Given the description of an element on the screen output the (x, y) to click on. 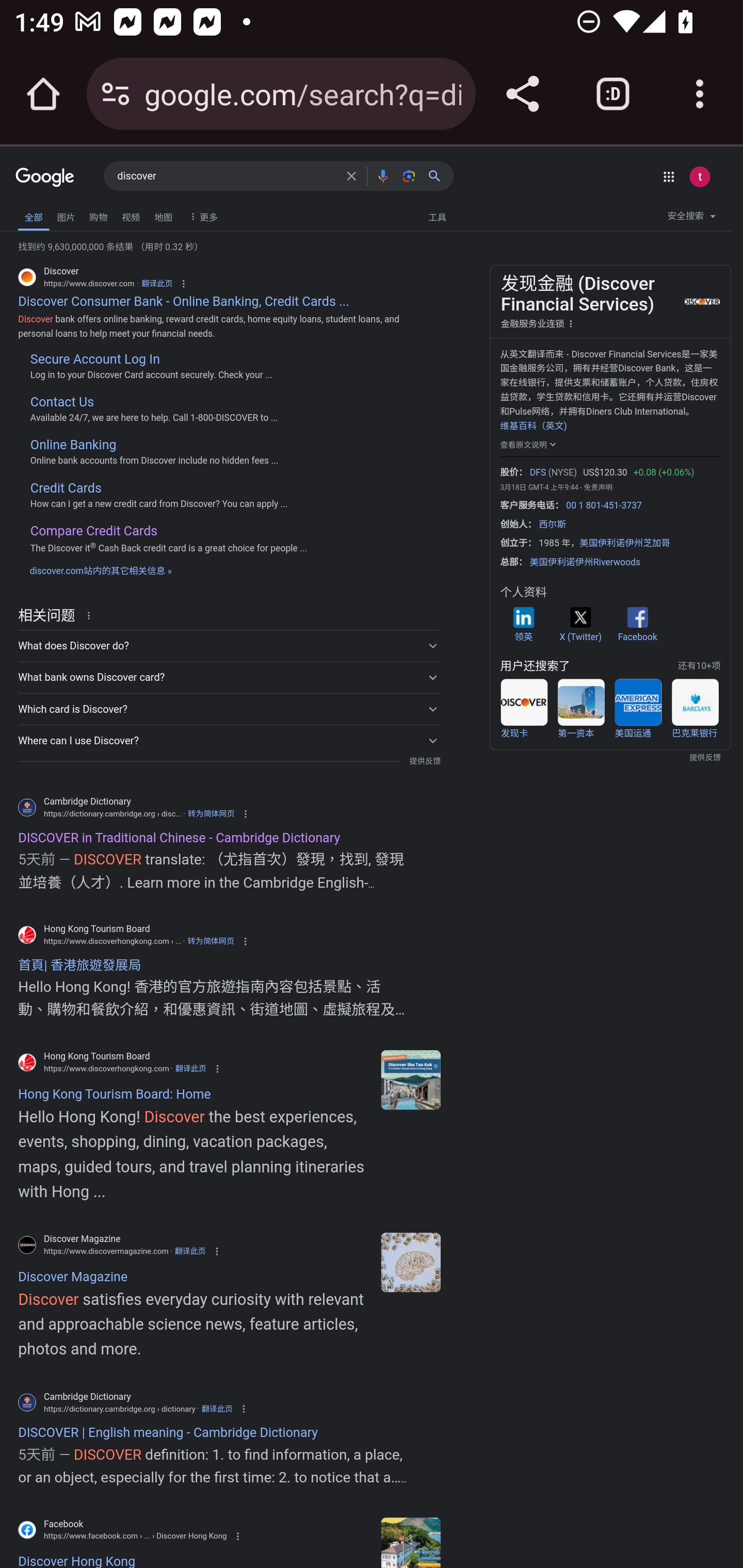
Open the home page (43, 93)
Connection is secure (115, 93)
Share (522, 93)
Switch or close tabs (612, 93)
Customize and control Google Chrome (699, 93)
清除 (351, 175)
按语音搜索 (382, 175)
按图搜索 (408, 175)
搜索 (438, 175)
Google 应用 (668, 176)
Google 账号： test appium (testappium002@gmail.com) (699, 176)
Google (45, 178)
discover (225, 176)
无障碍功能反馈 (41, 212)
图片 (65, 215)
购物 (98, 215)
视频 (131, 215)
地图 (163, 215)
更多 (201, 215)
安全搜索 (691, 218)
工具 (437, 215)
翻译此页 (157, 283)
Secure Account Log In (94, 358)
Contact Us (61, 401)
Online Banking (72, 445)
Credit Cards (65, 487)
Compare Credit Cards (93, 530)
discover.com站内的其它相关信息 » (100, 569)
关于这条结果的详细信息 (92, 614)
What does Discover do? (228, 645)
What bank owns Discover card? (228, 677)
Which card is Discover? (228, 708)
Where can I use Discover? (228, 740)
提供反馈 (424, 760)
转为简体网页 (210, 813)
转为简体网页 (210, 940)
www.discoverhongkong (410, 1079)
翻译此页 (190, 1068)
www.discovermagazine (410, 1262)
翻译此页 (189, 1250)
翻译此页 (216, 1408)
DiscoverHongKong (410, 1542)
